Given the description of an element on the screen output the (x, y) to click on. 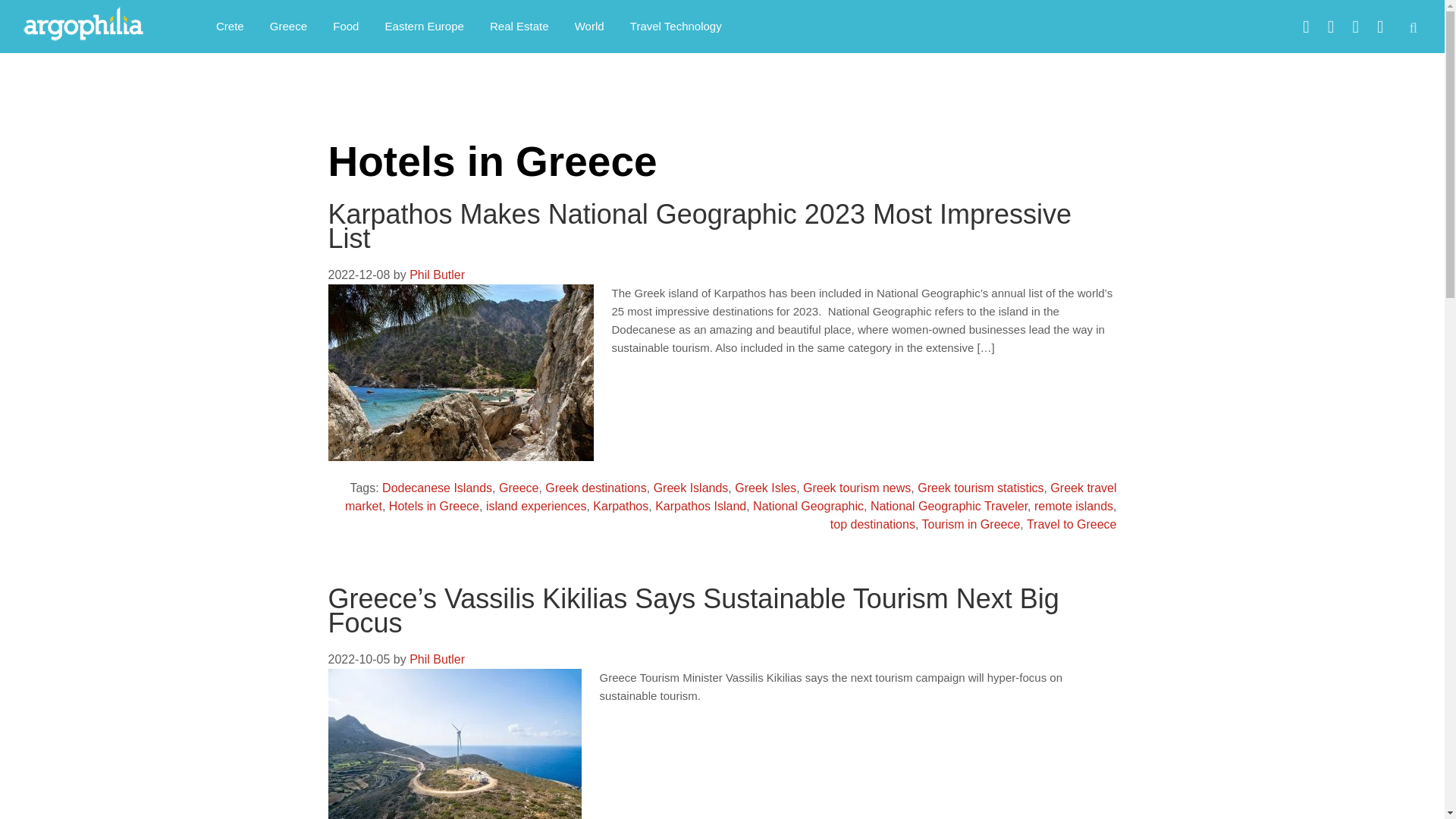
Argophilia (90, 24)
Karpathos (619, 505)
Travel Technology (675, 26)
Greek tourism news (857, 487)
Greek tourism statistics (980, 487)
top destinations (872, 523)
Greece (518, 487)
Greek travel market (730, 496)
Greece (288, 26)
Real Estate (519, 26)
Greek destinations (595, 487)
Phil Butler (436, 274)
Greek Islands (691, 487)
Crete (230, 26)
